Given the description of an element on the screen output the (x, y) to click on. 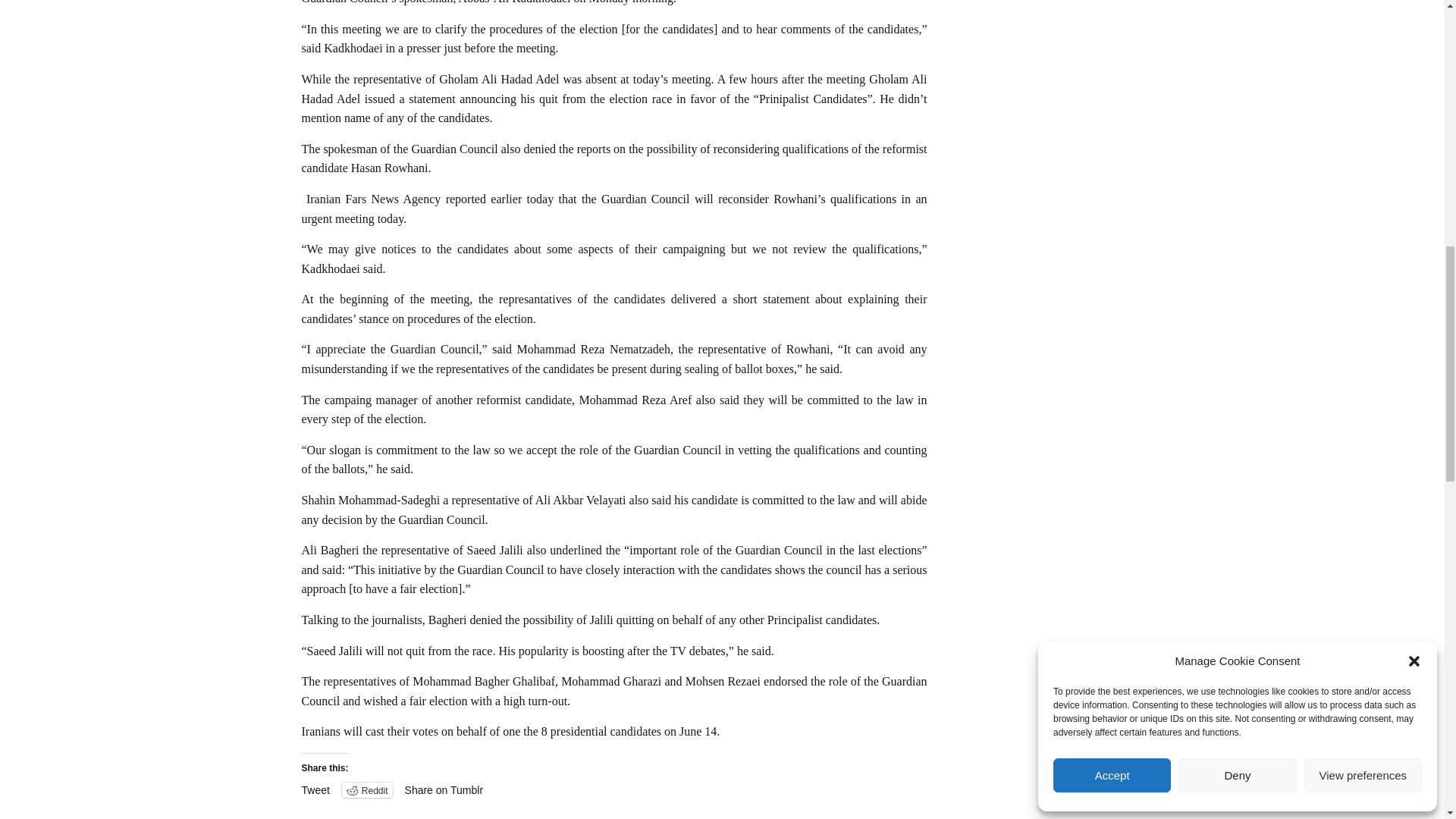
Click to share on Reddit (367, 789)
Share on Tumblr (443, 789)
